Given the description of an element on the screen output the (x, y) to click on. 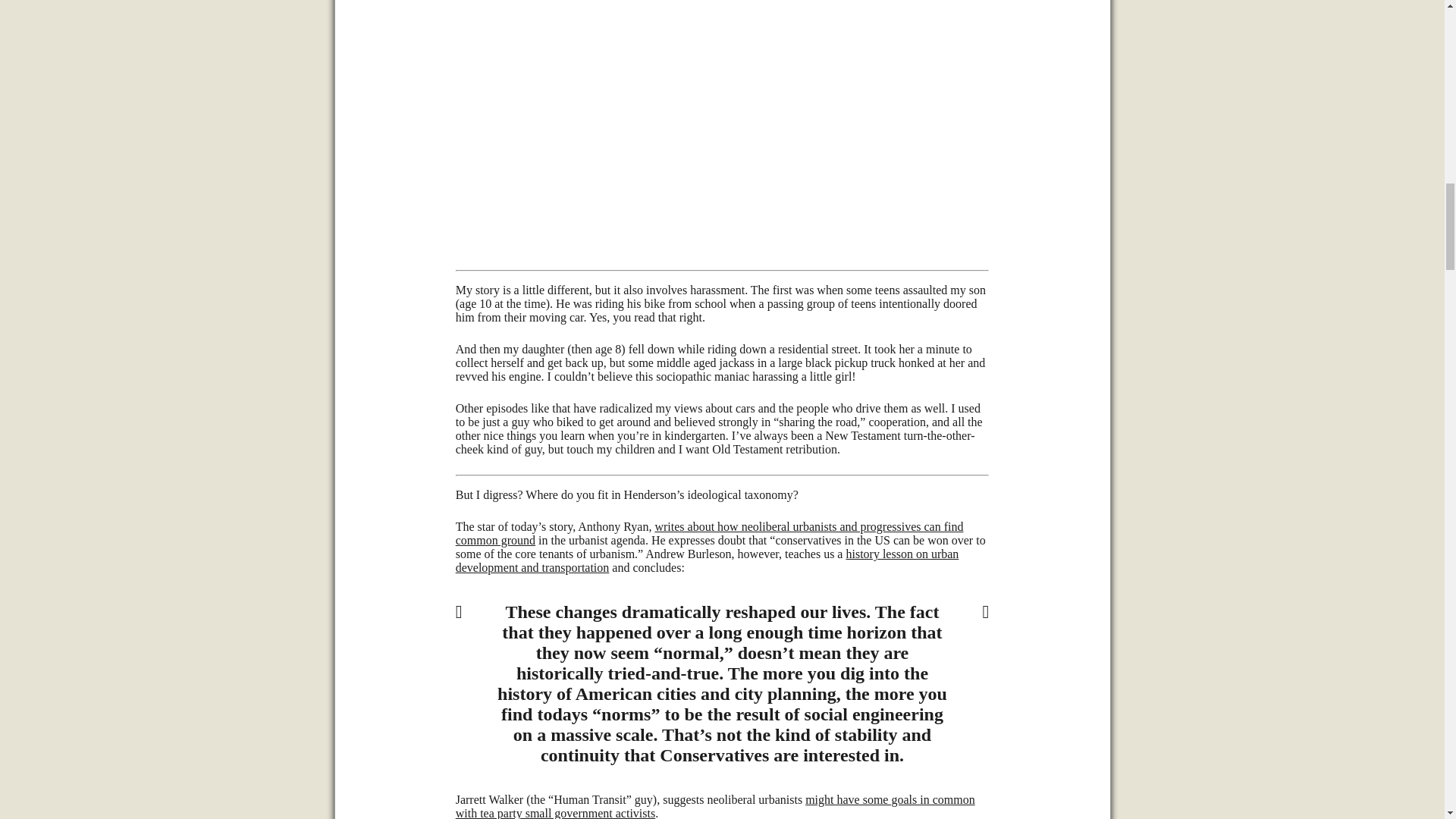
Tea Party urbanist (715, 806)
history lesson on urban development and transportation (707, 560)
